Given the description of an element on the screen output the (x, y) to click on. 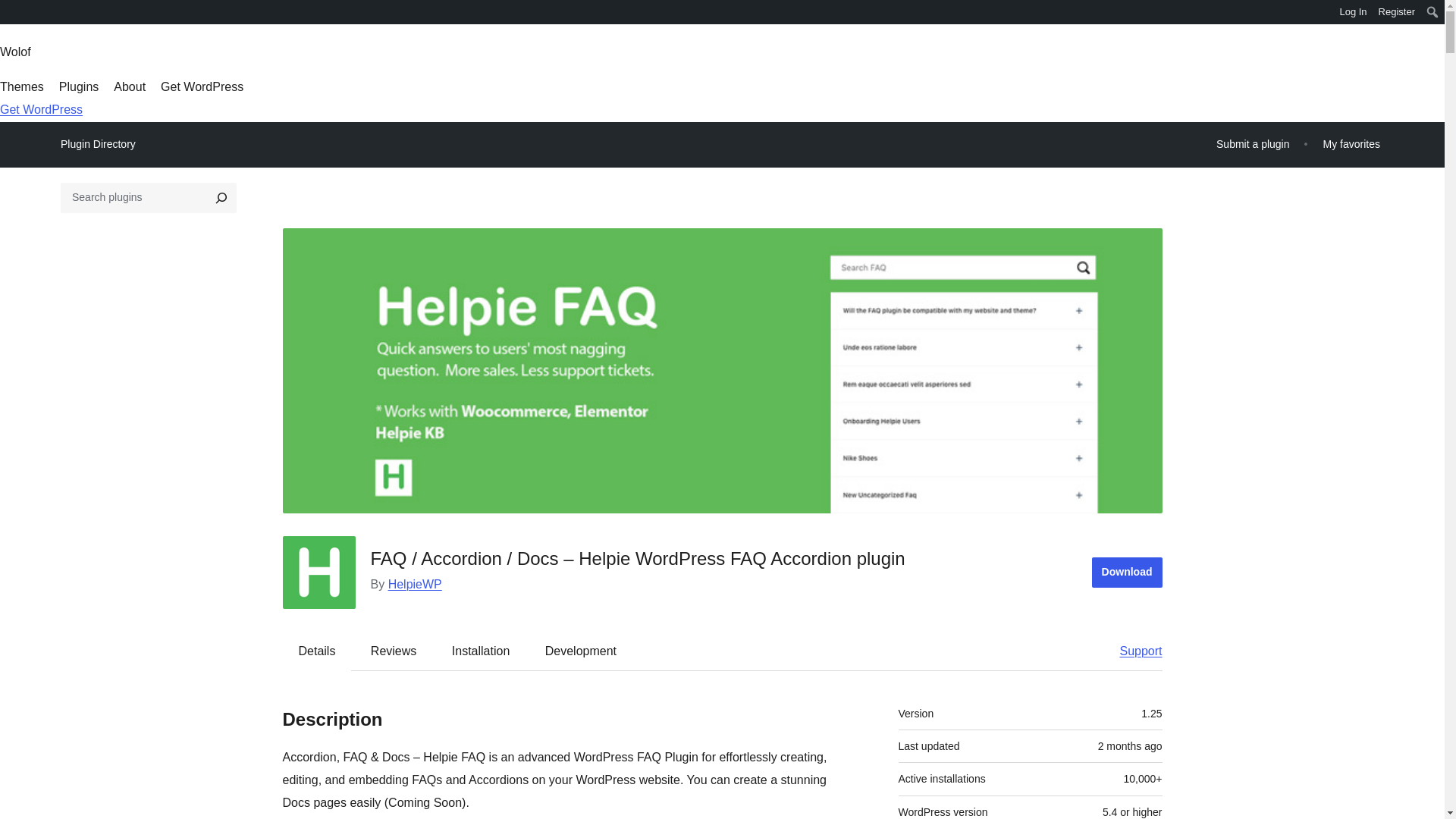
Search (16, 13)
WordPress.org (10, 10)
Details (316, 651)
Reviews (392, 651)
Plugins (79, 87)
Installation (480, 651)
About (129, 87)
Log In (1353, 12)
WordPress.org (10, 16)
HelpieWP (415, 584)
Plugin Directory (97, 143)
Get WordPress (201, 87)
Download (1126, 572)
Themes (21, 87)
Support (1132, 651)
